Given the description of an element on the screen output the (x, y) to click on. 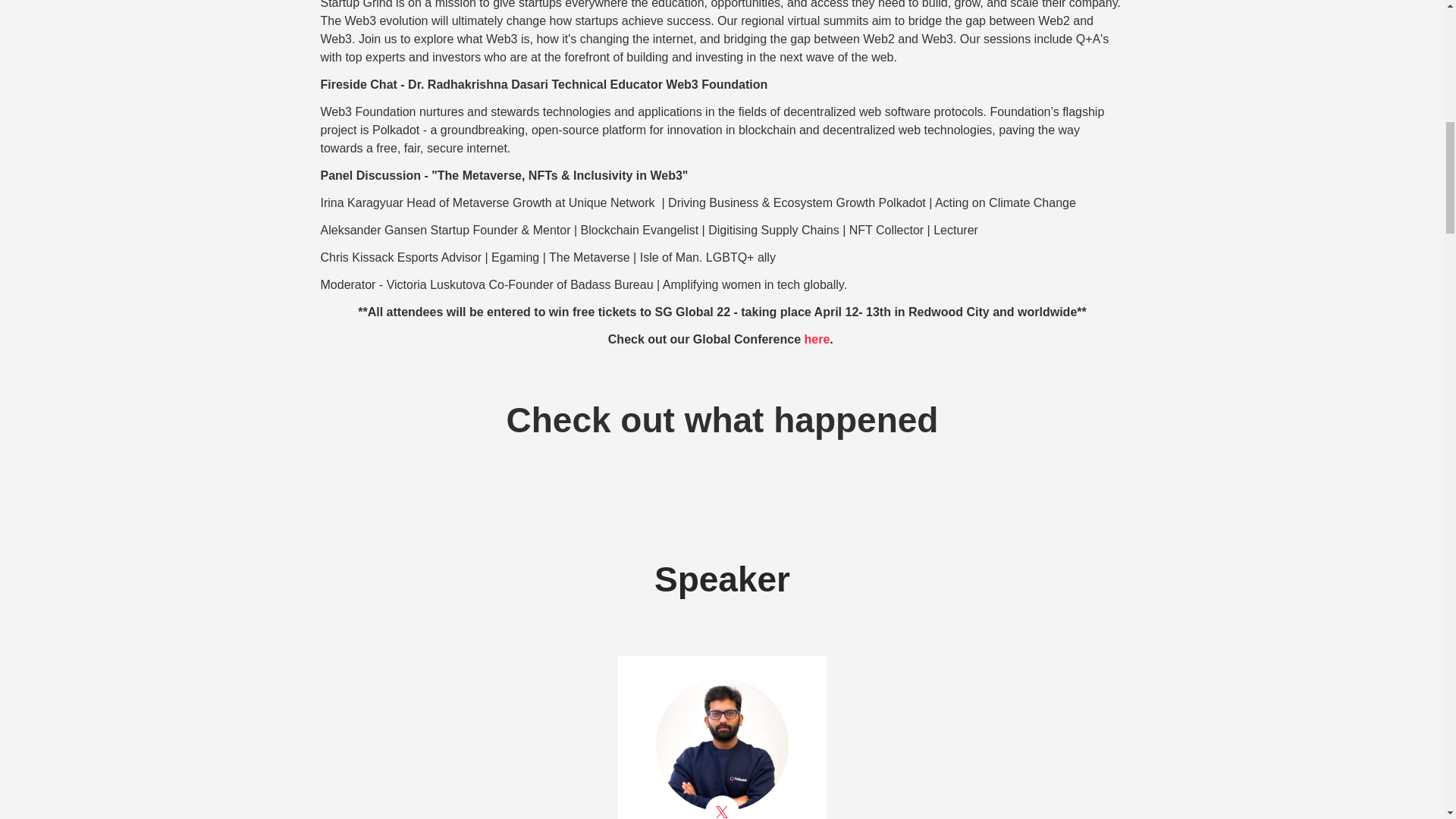
here (816, 338)
